Given the description of an element on the screen output the (x, y) to click on. 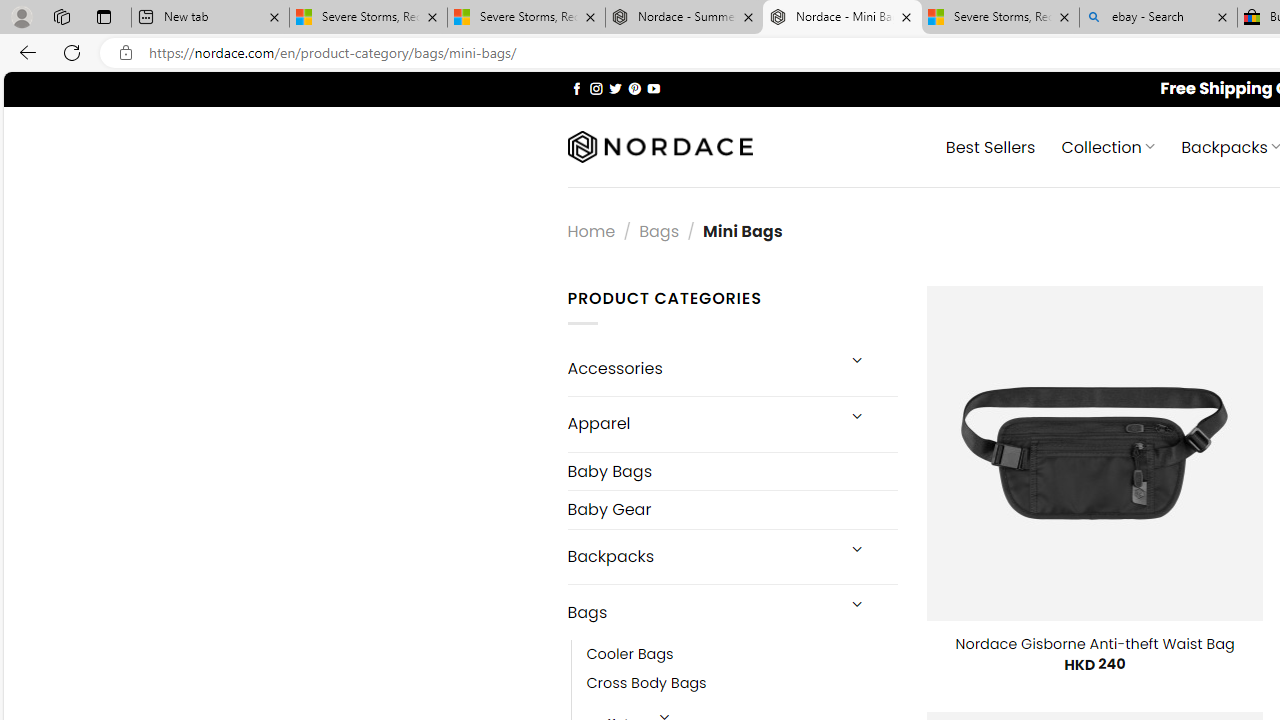
Baby Bags (732, 471)
Nordace - Summer Adventures 2024 (683, 17)
Backpacks (700, 556)
Follow on Pinterest (634, 88)
ebay - Search (1158, 17)
Follow on YouTube (653, 88)
Follow on Instagram (596, 88)
